Given the description of an element on the screen output the (x, y) to click on. 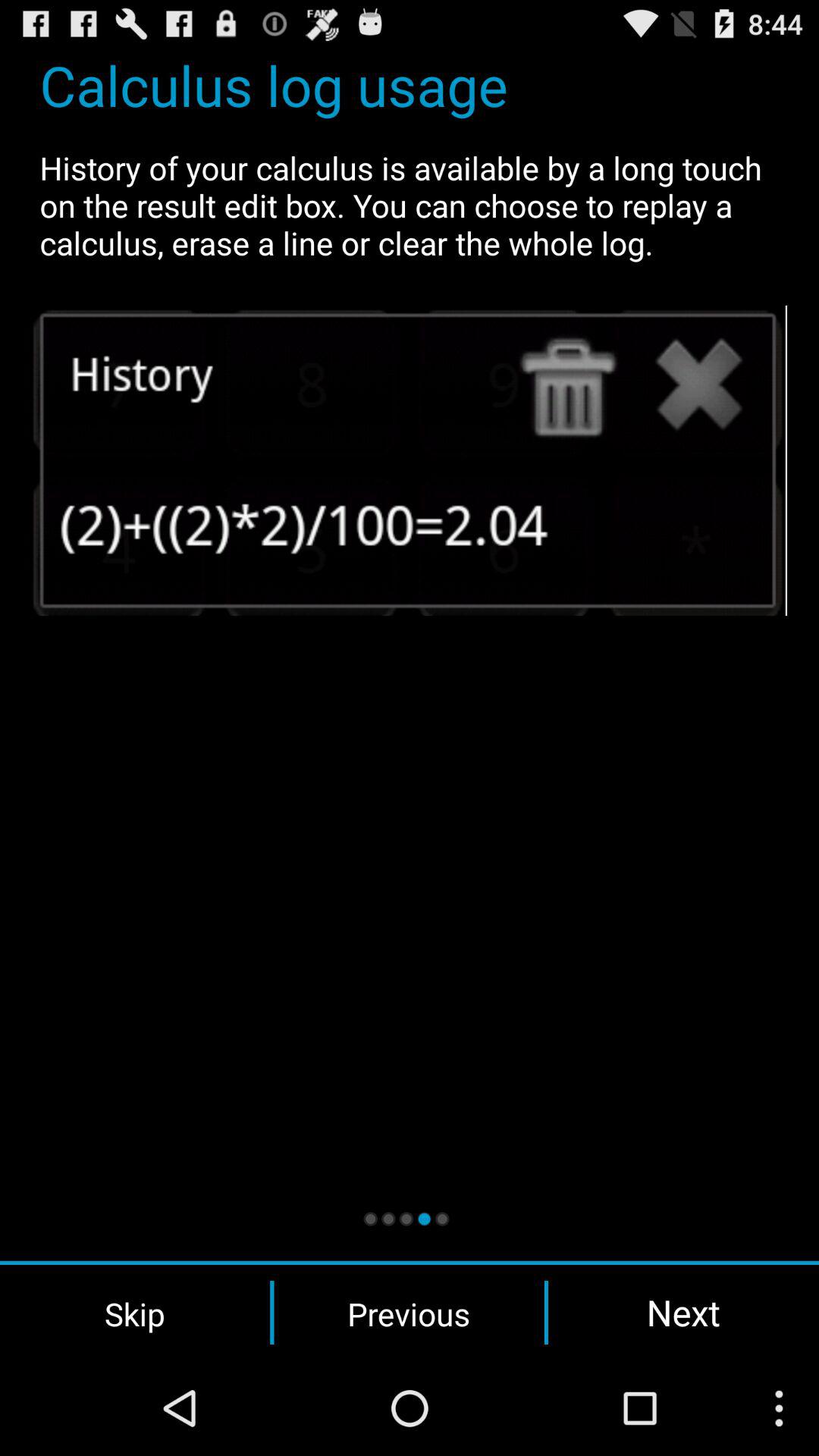
swipe until skip (135, 1313)
